Given the description of an element on the screen output the (x, y) to click on. 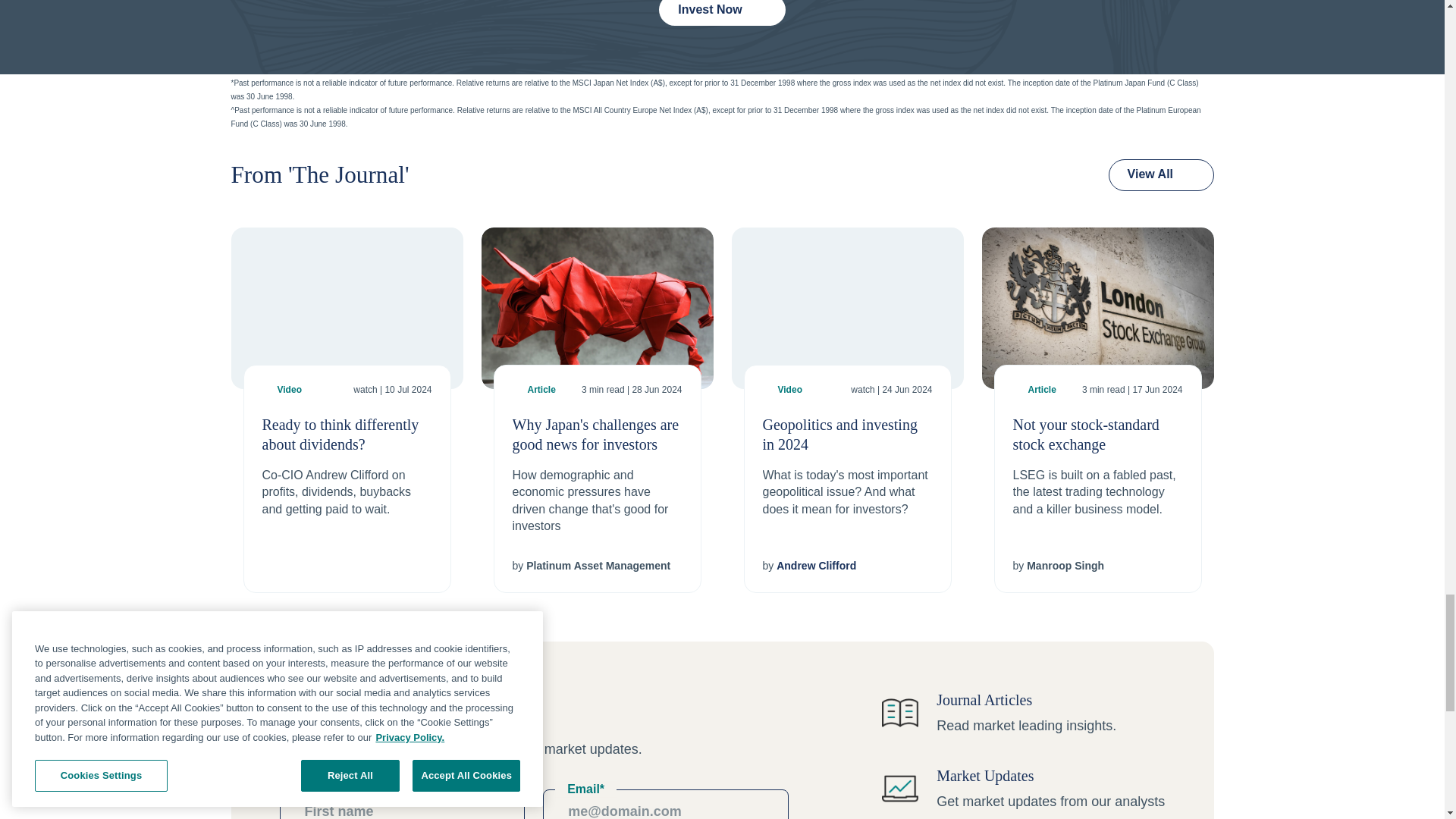
Why Japan's challenges are good news for investors (596, 308)
Not your stock-standard stock exchange (1096, 308)
Geopolitics and investing in 2024 (846, 308)
Ready to think differently about dividends? (346, 308)
journal (900, 712)
